Given the description of an element on the screen output the (x, y) to click on. 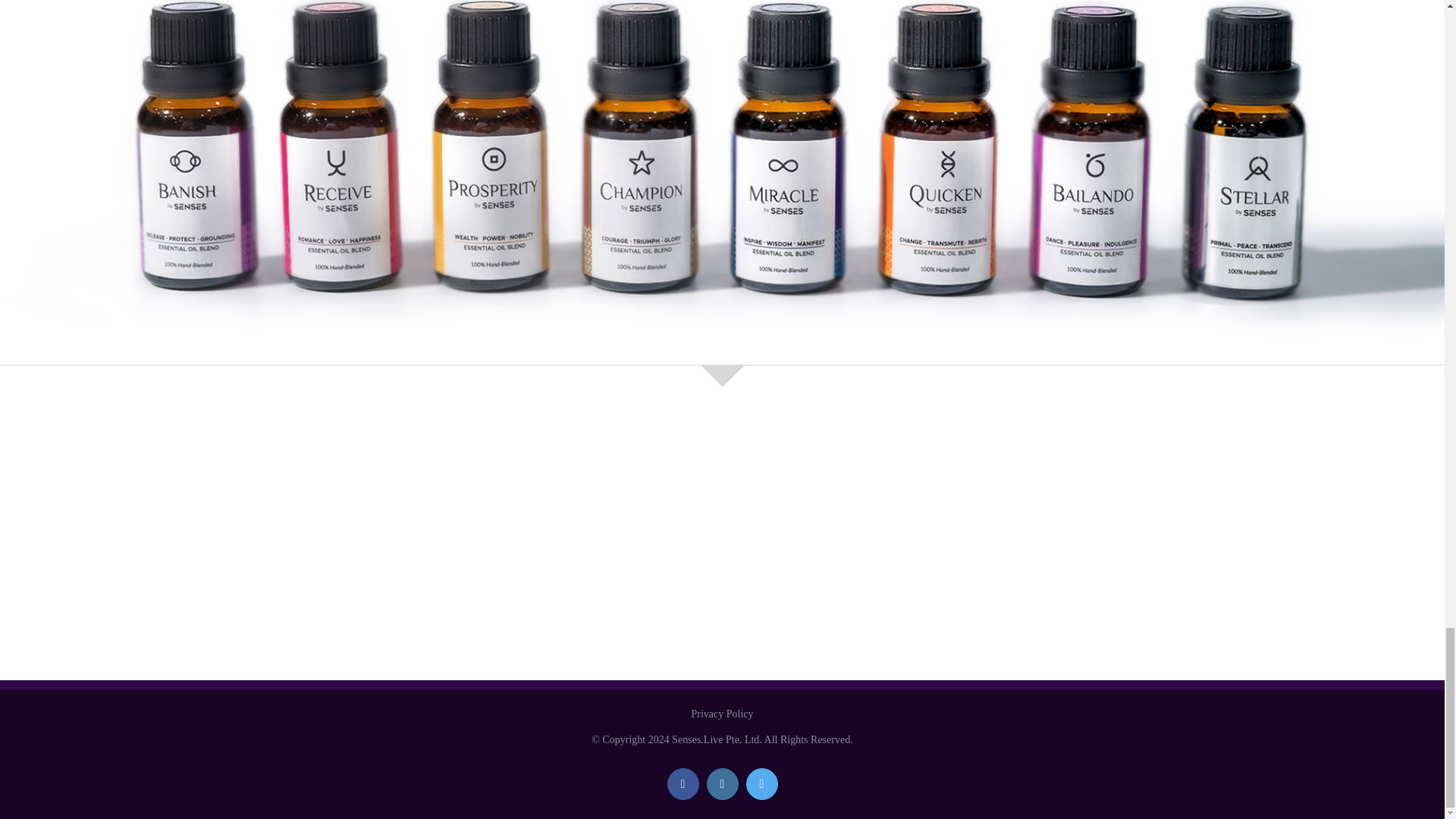
Instagram (722, 784)
Facebook (682, 784)
Twitter (761, 784)
